Given the description of an element on the screen output the (x, y) to click on. 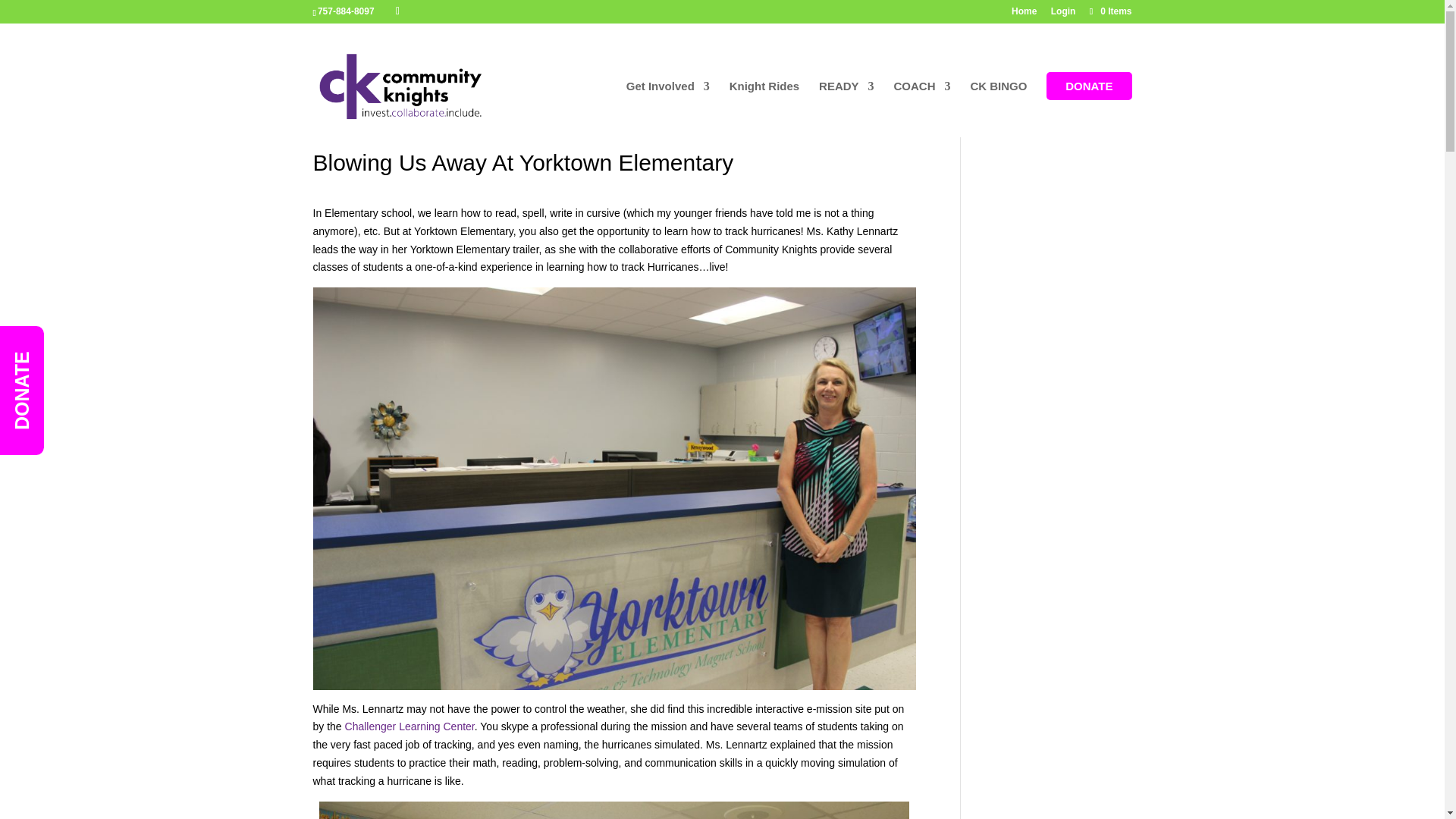
CK BINGO (997, 105)
COACH (921, 105)
0 Items (1108, 10)
DONATE (1088, 105)
Knight Rides (764, 105)
Home (1023, 14)
Login (1063, 14)
READY (846, 105)
Get Involved (668, 105)
